Given the description of an element on the screen output the (x, y) to click on. 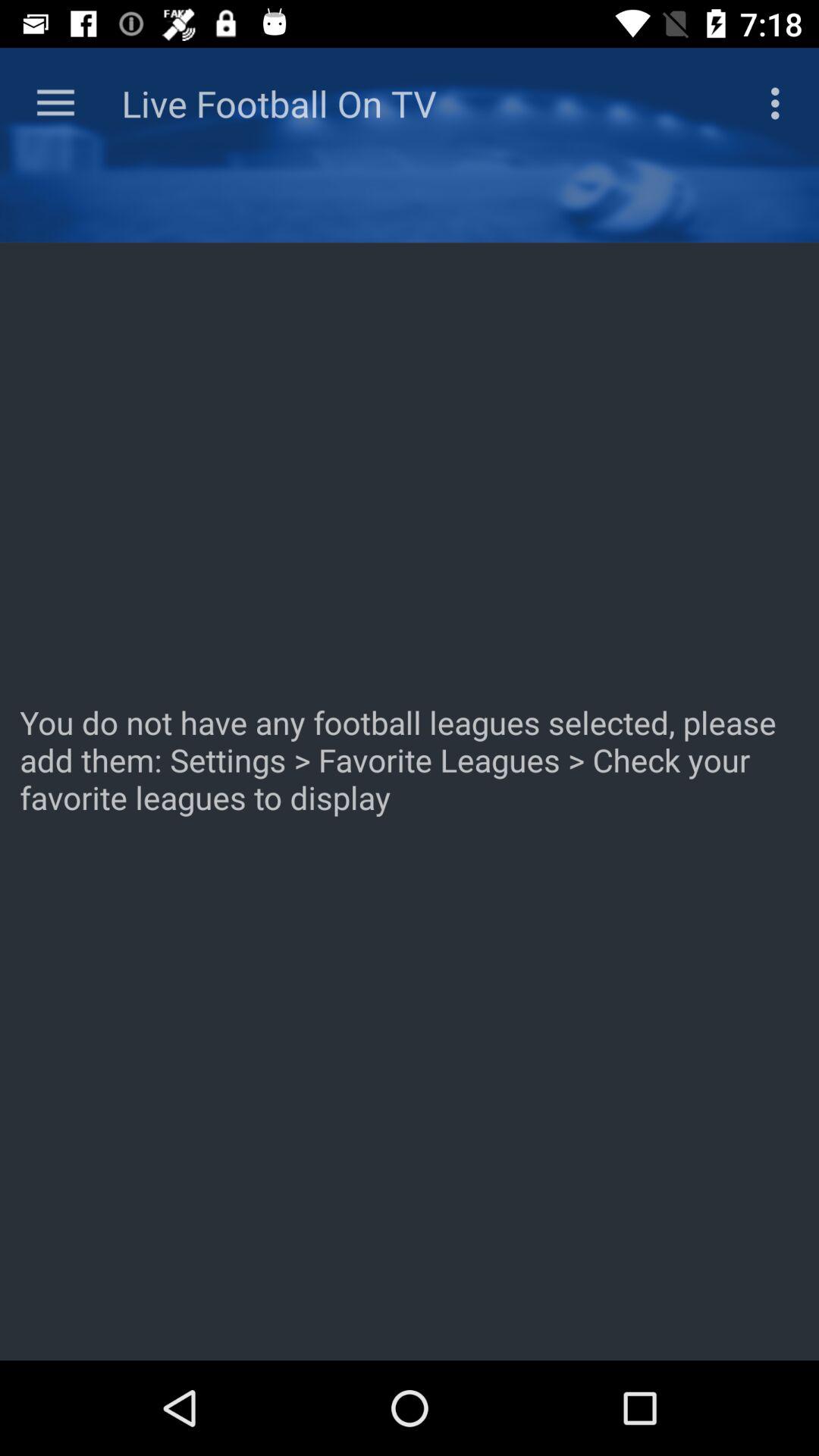
turn off icon to the left of live football on item (55, 103)
